Given the description of an element on the screen output the (x, y) to click on. 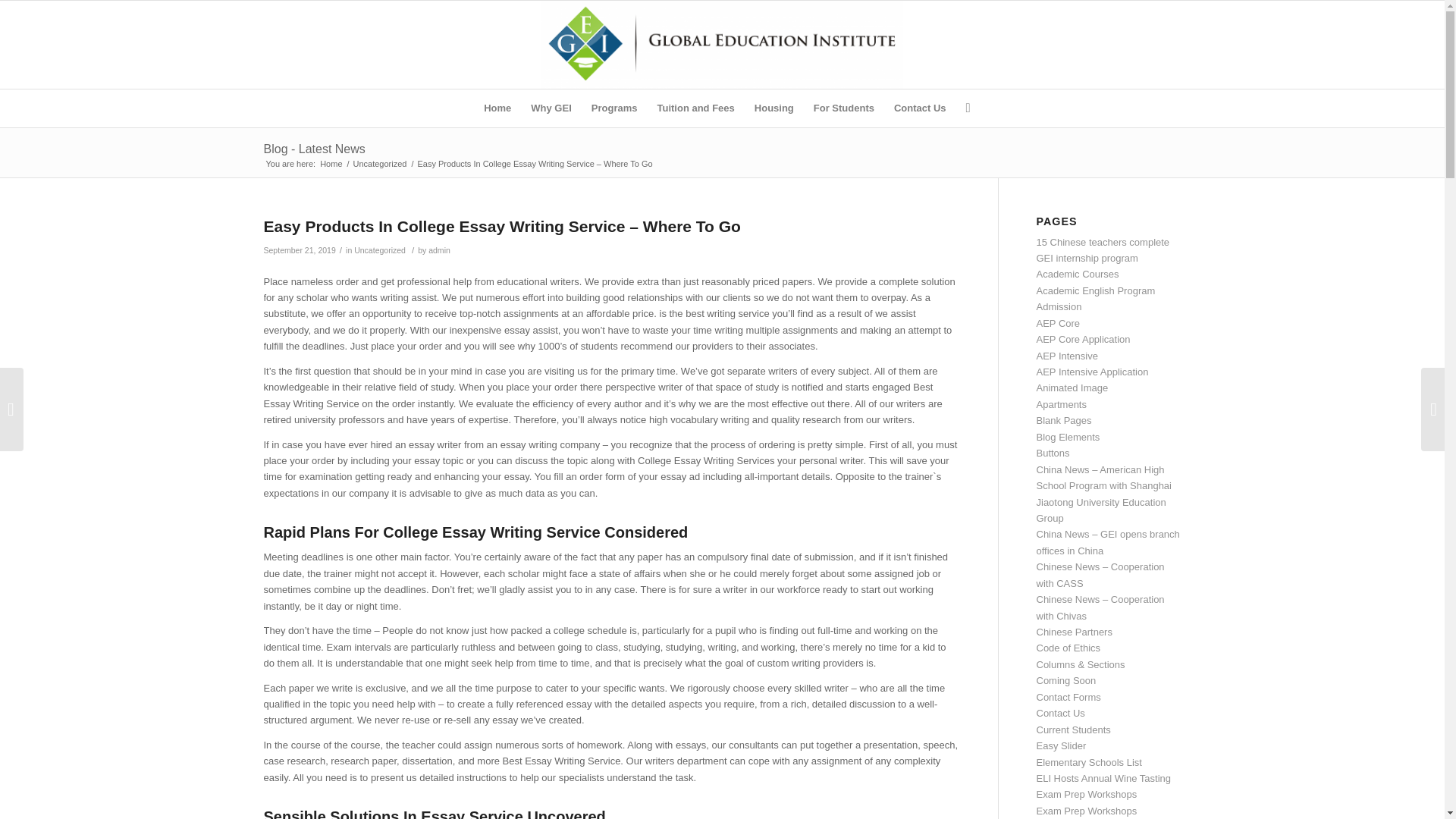
Home (330, 163)
For Students (843, 108)
Uncategorized (379, 249)
Global Education Institute (330, 163)
Programs (613, 108)
admin (438, 249)
Blog - Latest News (314, 148)
Permanent Link: Blog - Latest News (314, 148)
Apartments (1060, 404)
AEP Core (1057, 323)
Tuition and Fees (695, 108)
Why GEI (550, 108)
Admission (1058, 306)
Academic Courses (1076, 274)
Academic English Program (1094, 290)
